Given the description of an element on the screen output the (x, y) to click on. 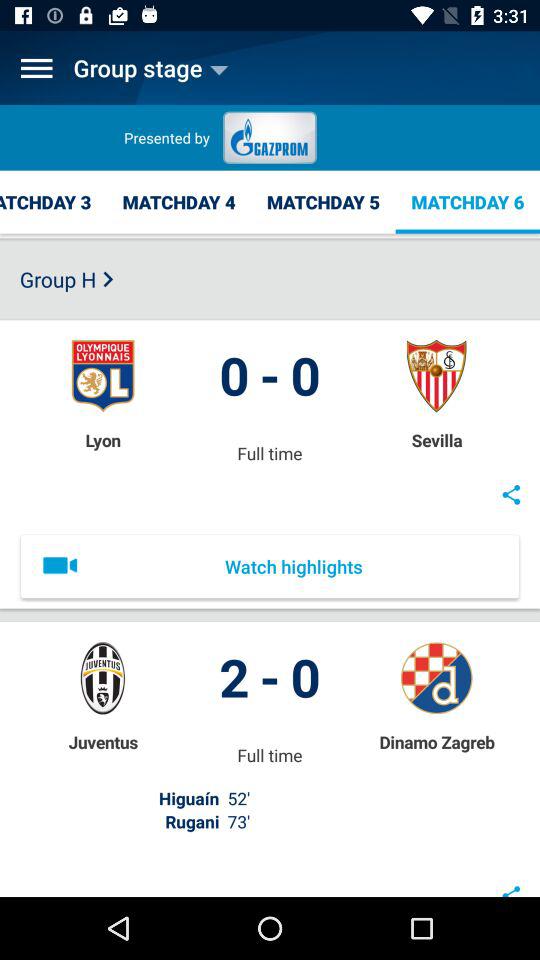
open menu (36, 68)
